Given the description of an element on the screen output the (x, y) to click on. 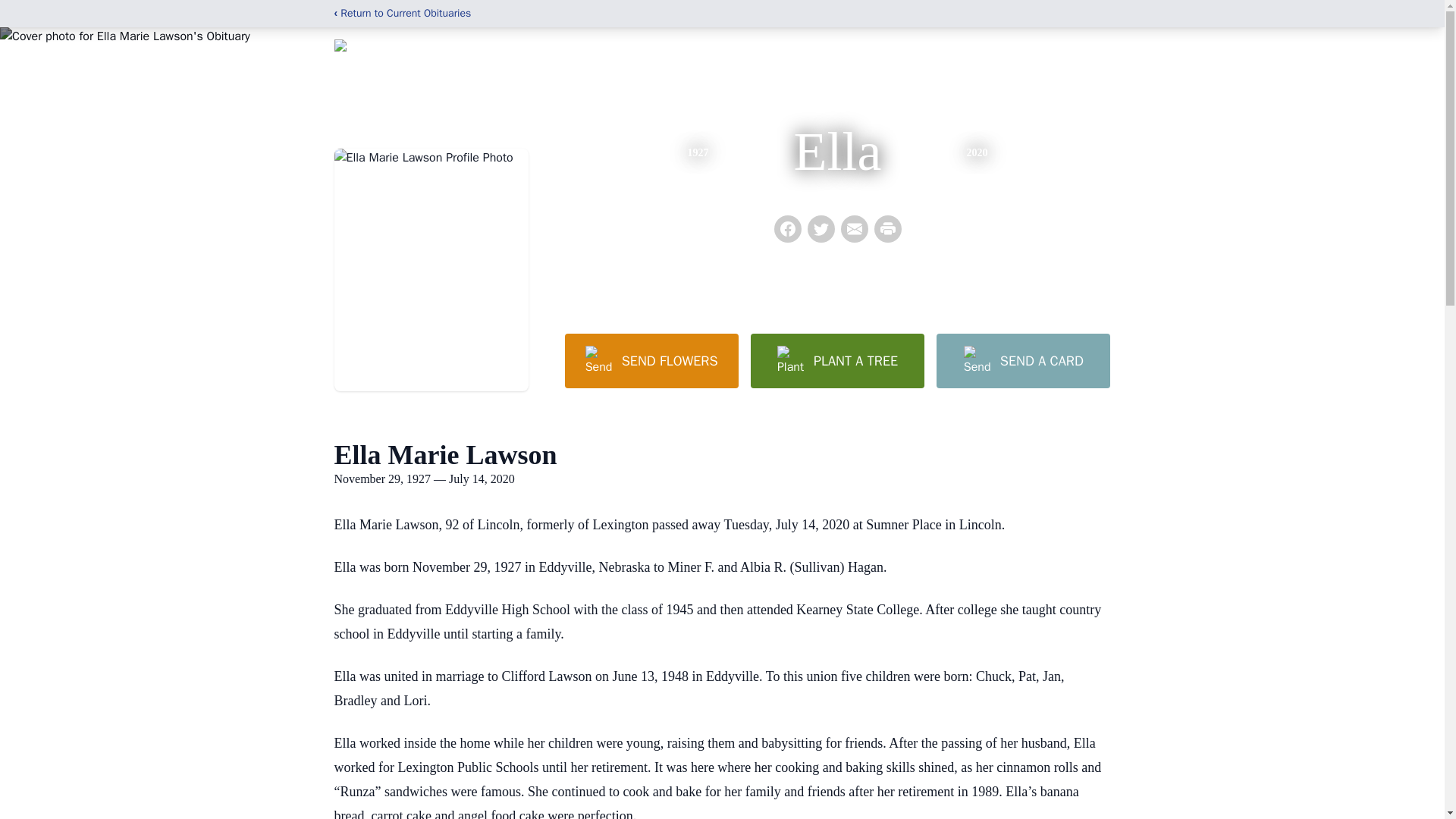
SEND A CARD (1022, 360)
SEND FLOWERS (651, 360)
PLANT A TREE (837, 360)
